Given the description of an element on the screen output the (x, y) to click on. 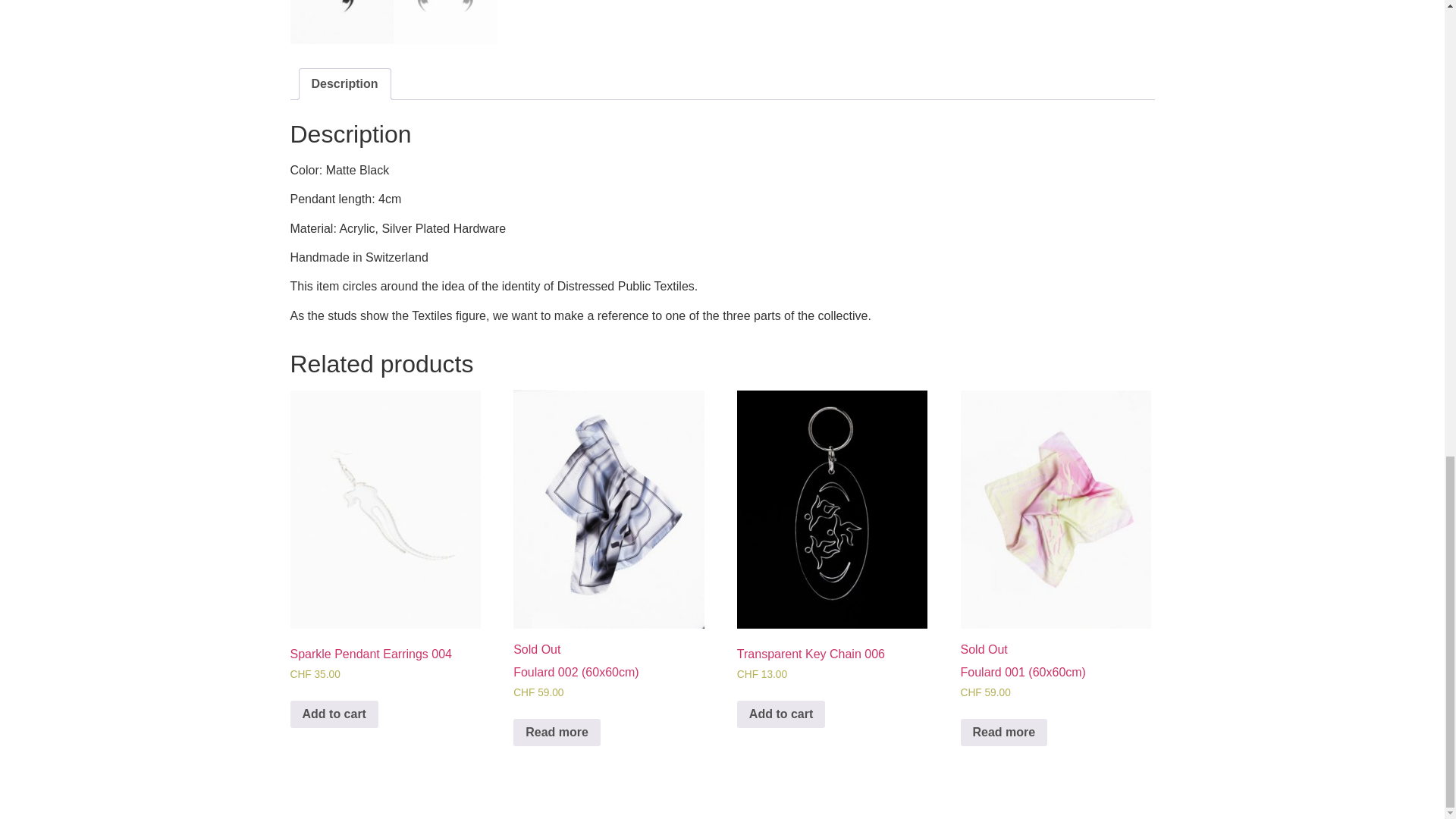
Read more (1004, 732)
Read more (556, 732)
Description (344, 83)
Add to cart (780, 714)
Add to cart (333, 714)
